Given the description of an element on the screen output the (x, y) to click on. 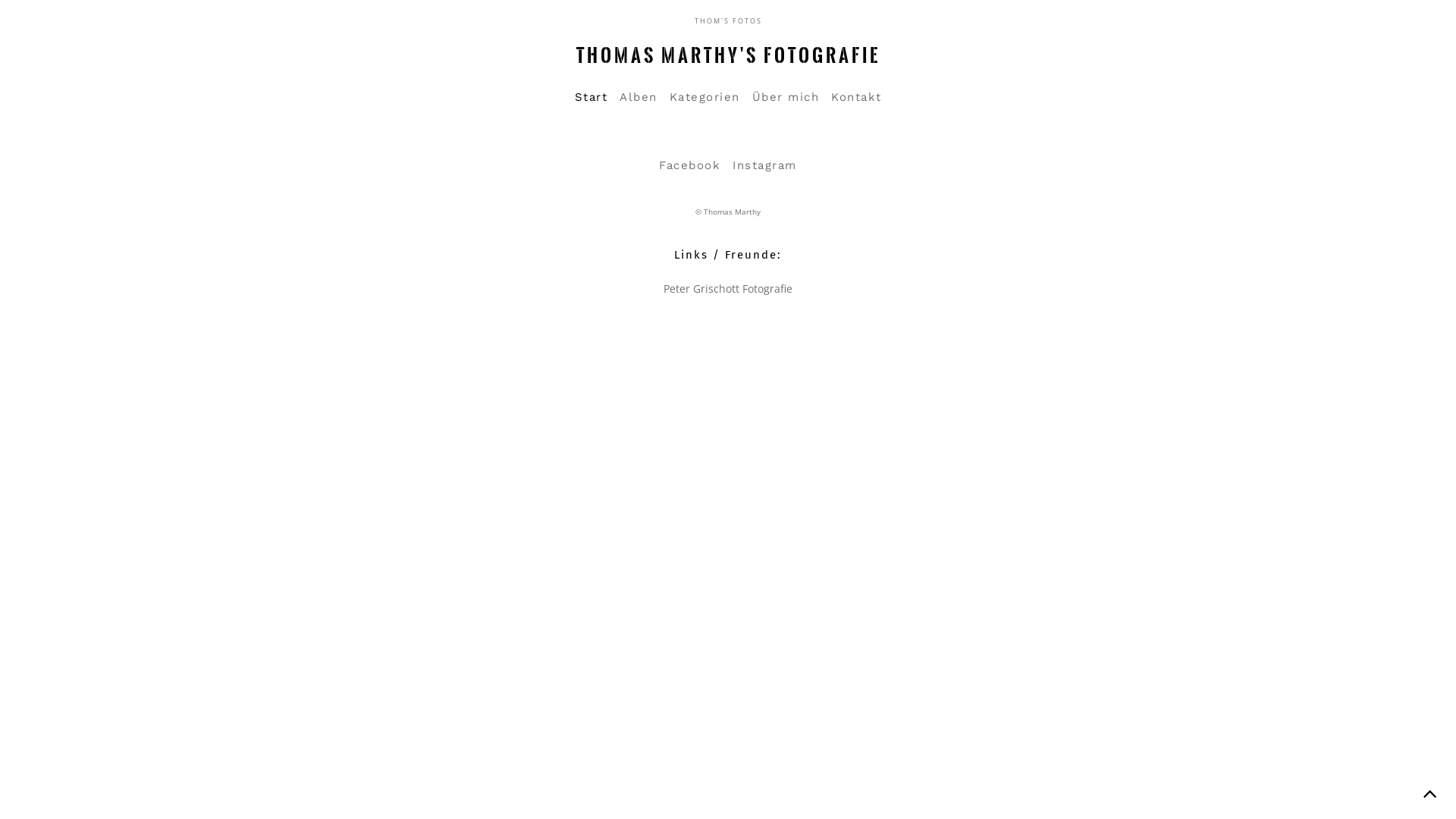
Facebook Element type: text (689, 165)
THOMAS MARTHY'S FOTOGRAFIE Element type: text (728, 55)
Kategorien Element type: text (703, 96)
Back to top Element type: hover (1429, 792)
Alben Element type: text (638, 96)
Kontakt Element type: text (856, 96)
Peter Grischott Fotografie Element type: text (727, 288)
Instagram Element type: text (764, 165)
Start Element type: text (591, 96)
